Given the description of an element on the screen output the (x, y) to click on. 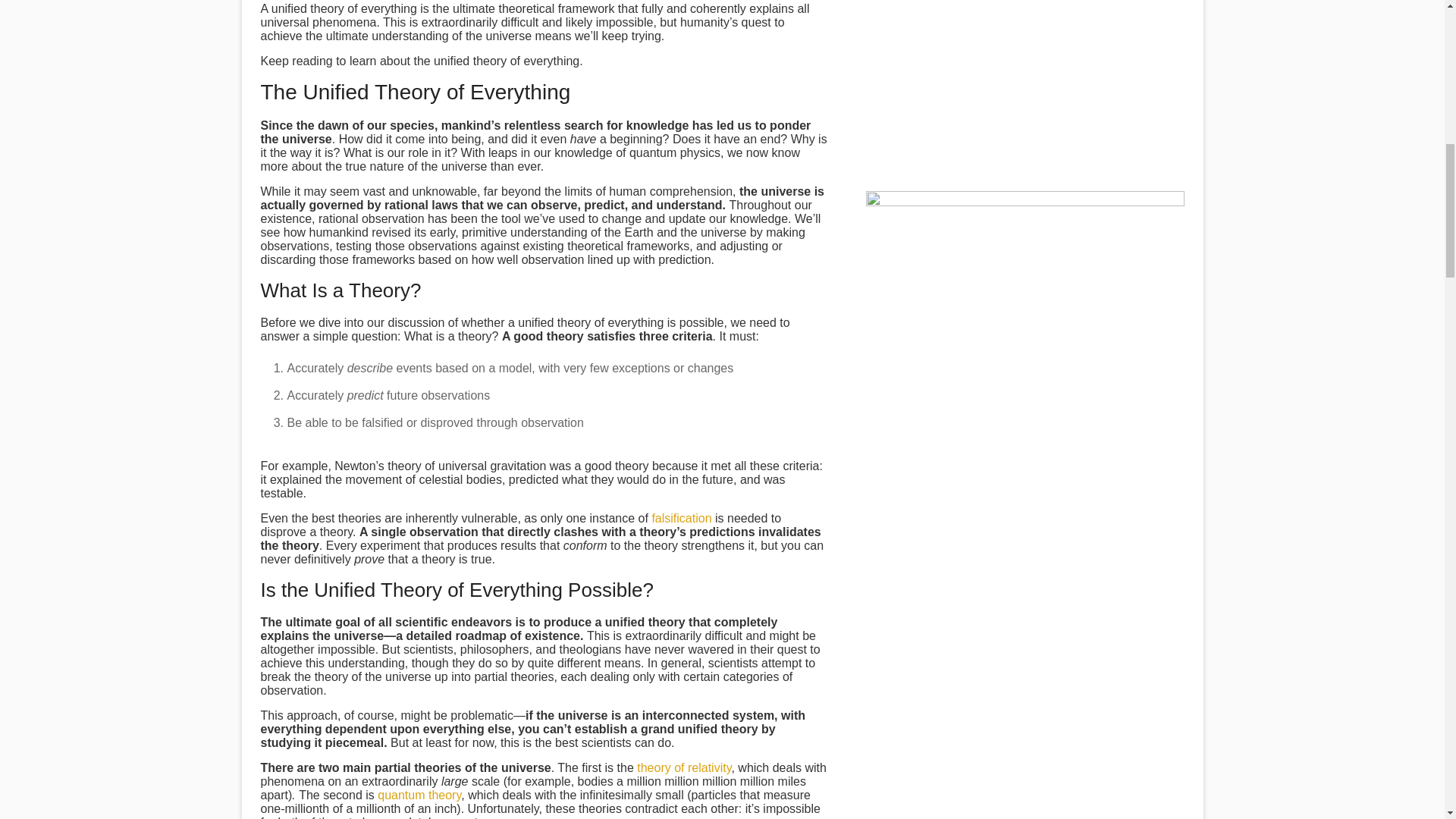
falsification (680, 517)
quantum theory (419, 794)
theory of relativity (683, 767)
